Given the description of an element on the screen output the (x, y) to click on. 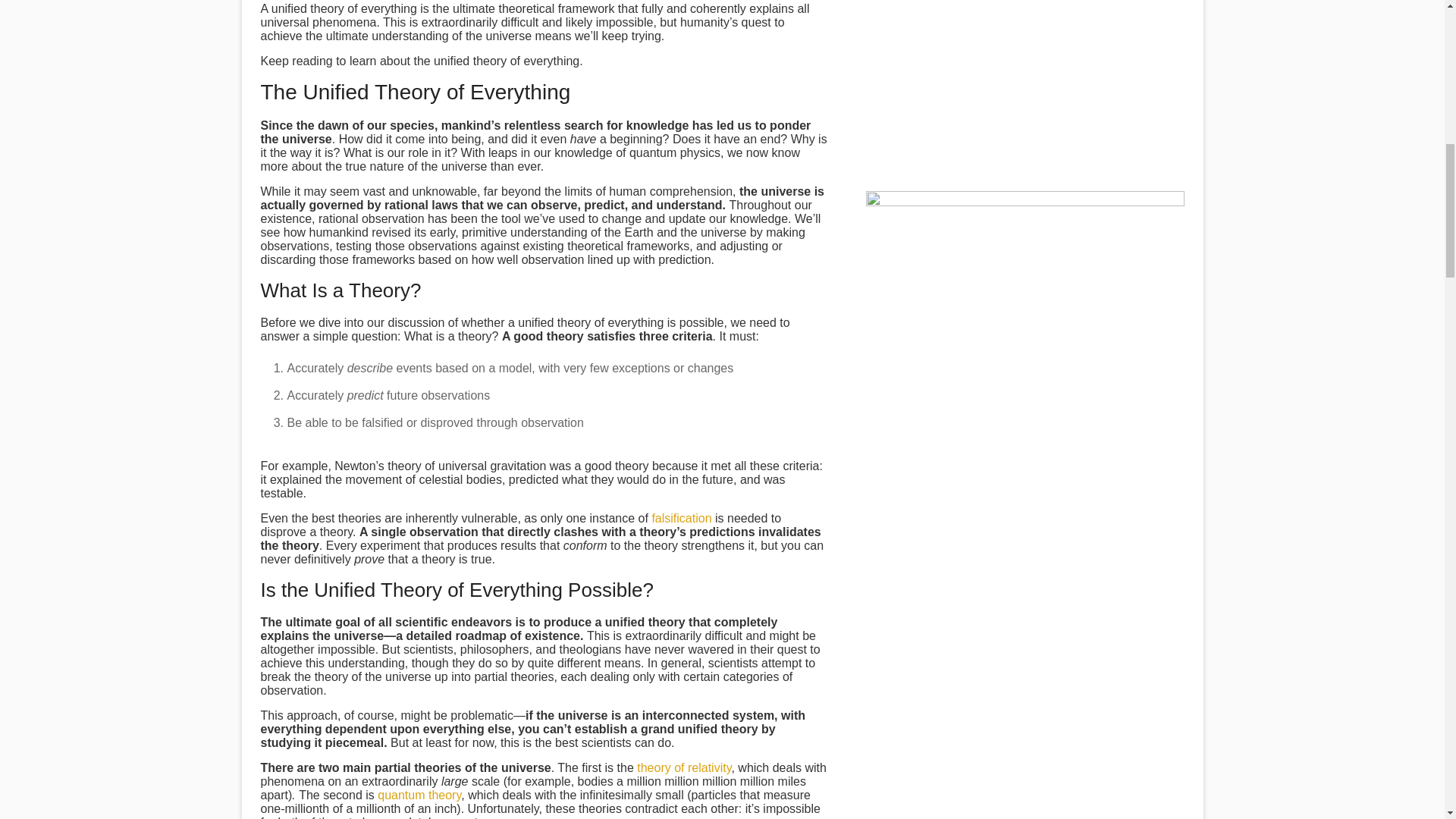
falsification (680, 517)
quantum theory (419, 794)
theory of relativity (683, 767)
